Given the description of an element on the screen output the (x, y) to click on. 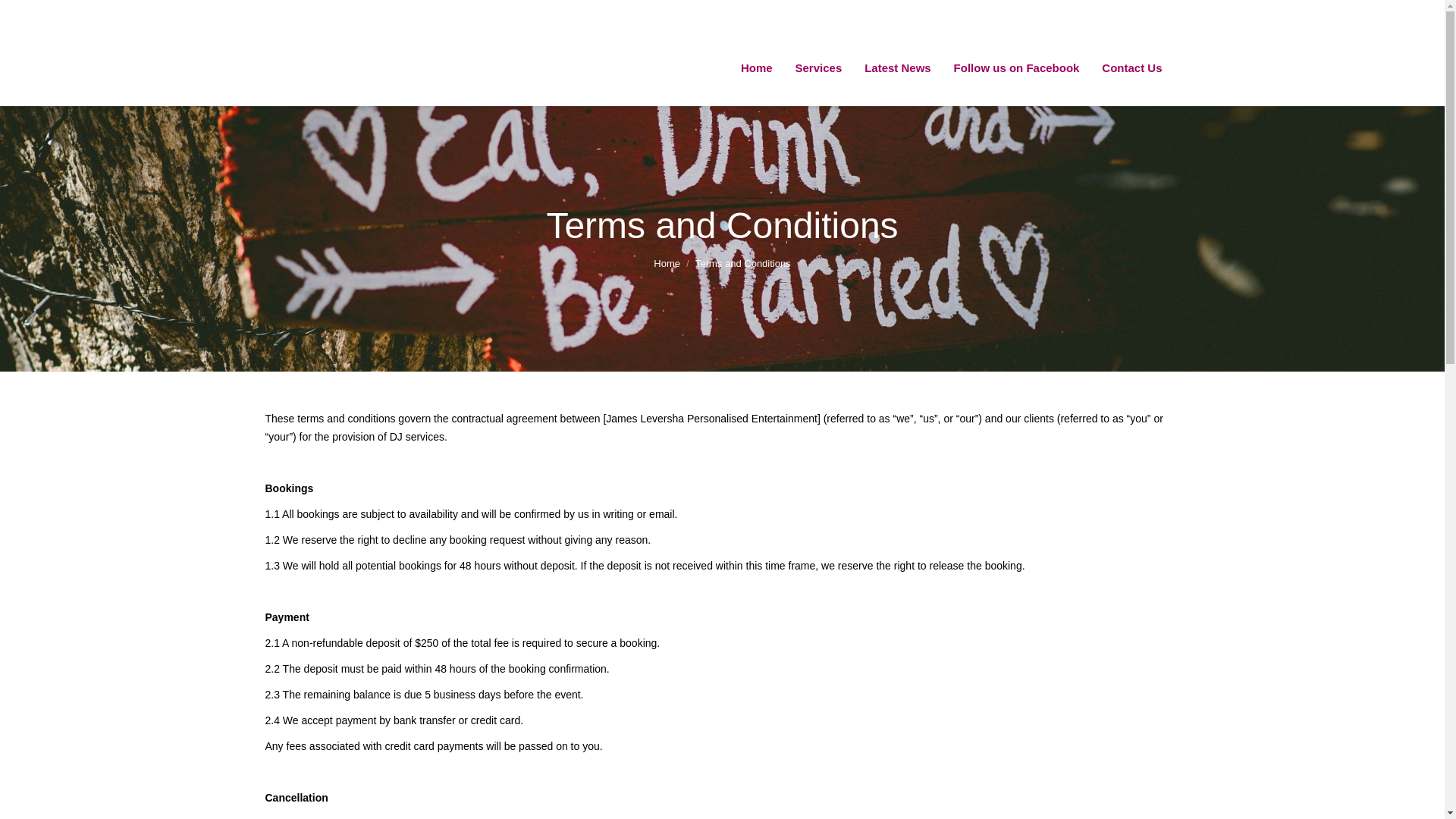
Services (818, 68)
Latest News (897, 68)
Home (756, 68)
